Given the description of an element on the screen output the (x, y) to click on. 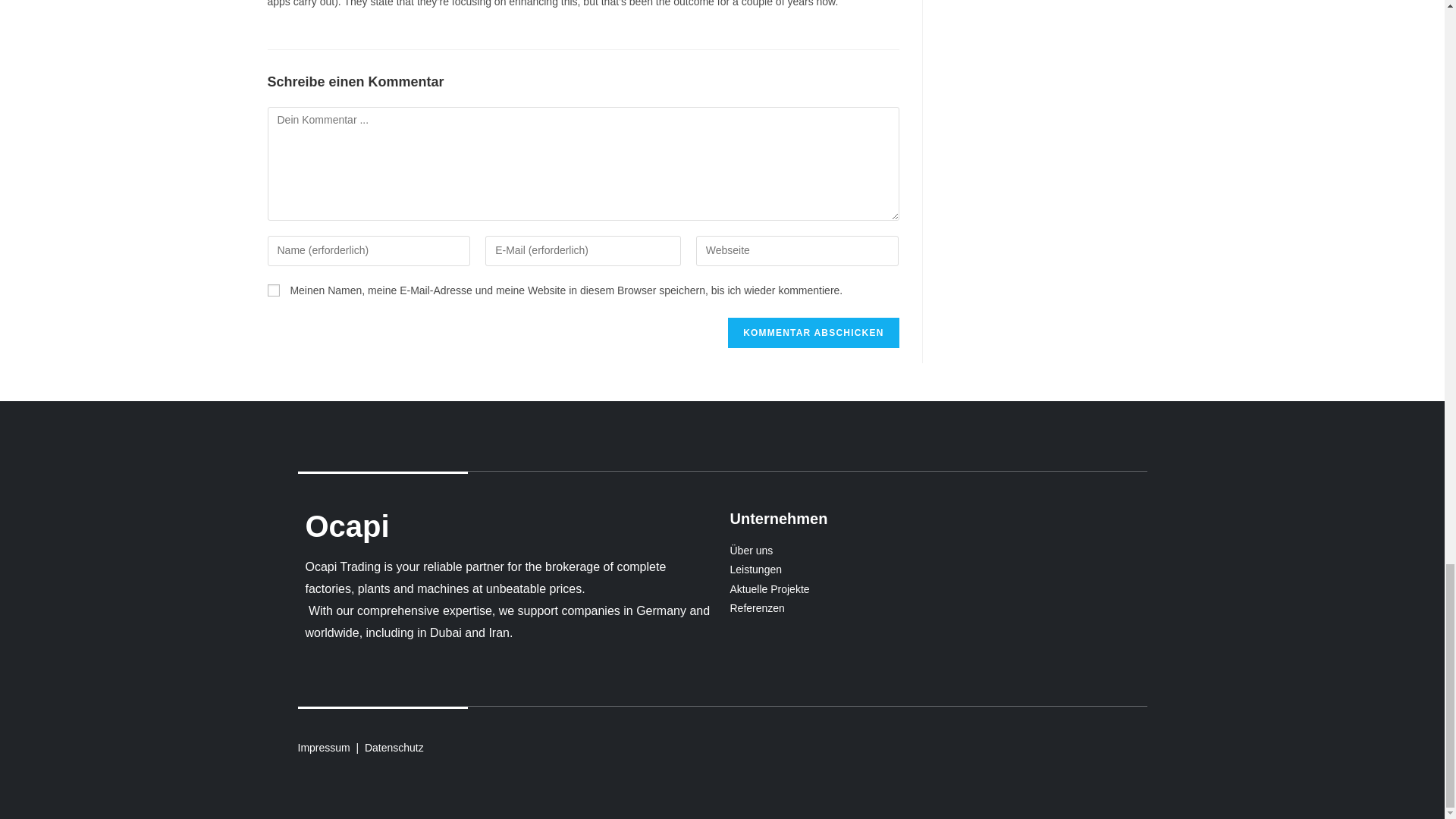
Datenschutz (394, 747)
Kommentar abschicken (813, 332)
Leistungen (933, 569)
Kommentar abschicken (813, 332)
yes (272, 290)
Impressum (323, 747)
